Given the description of an element on the screen output the (x, y) to click on. 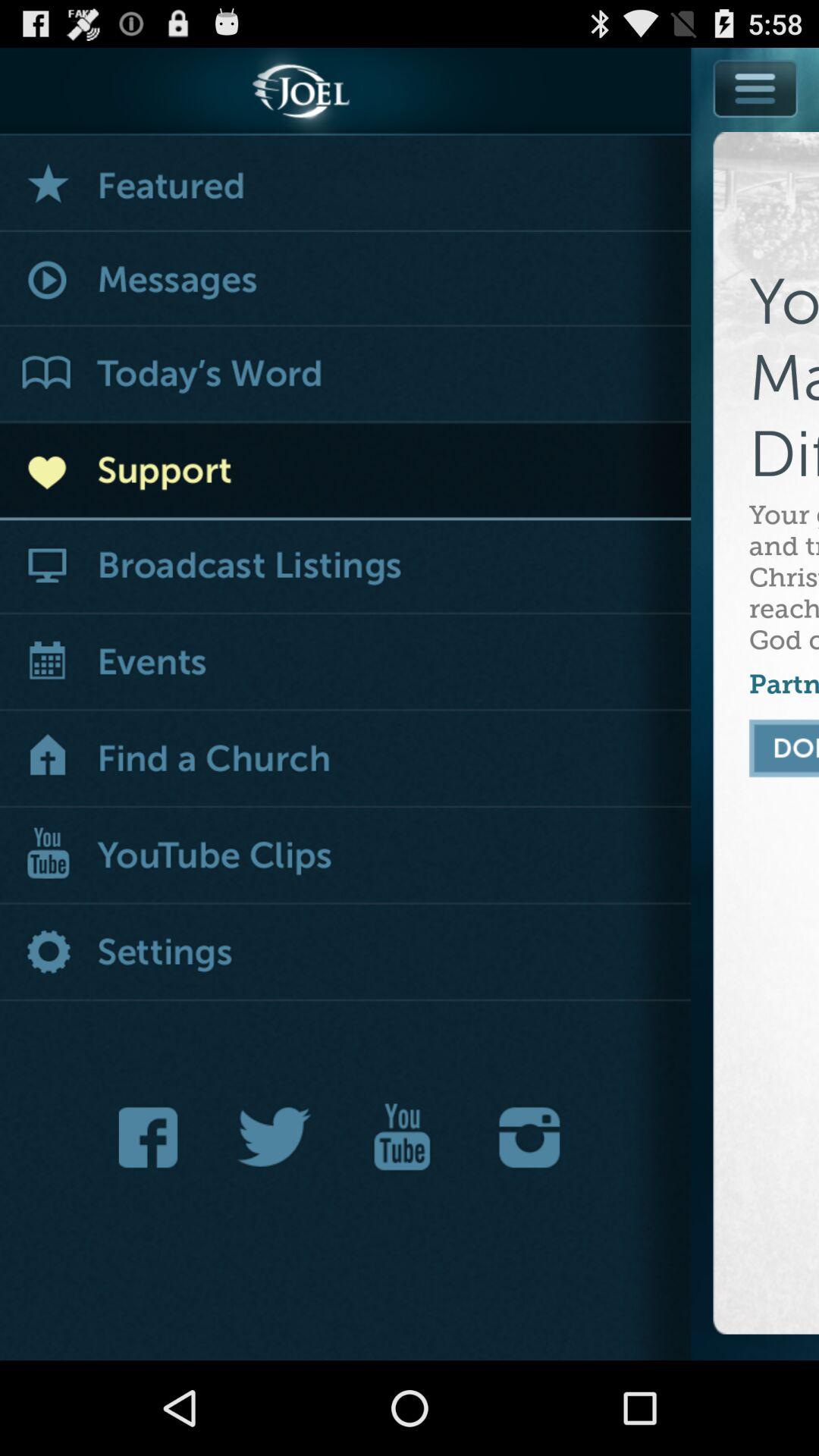
find a church (345, 760)
